Given the description of an element on the screen output the (x, y) to click on. 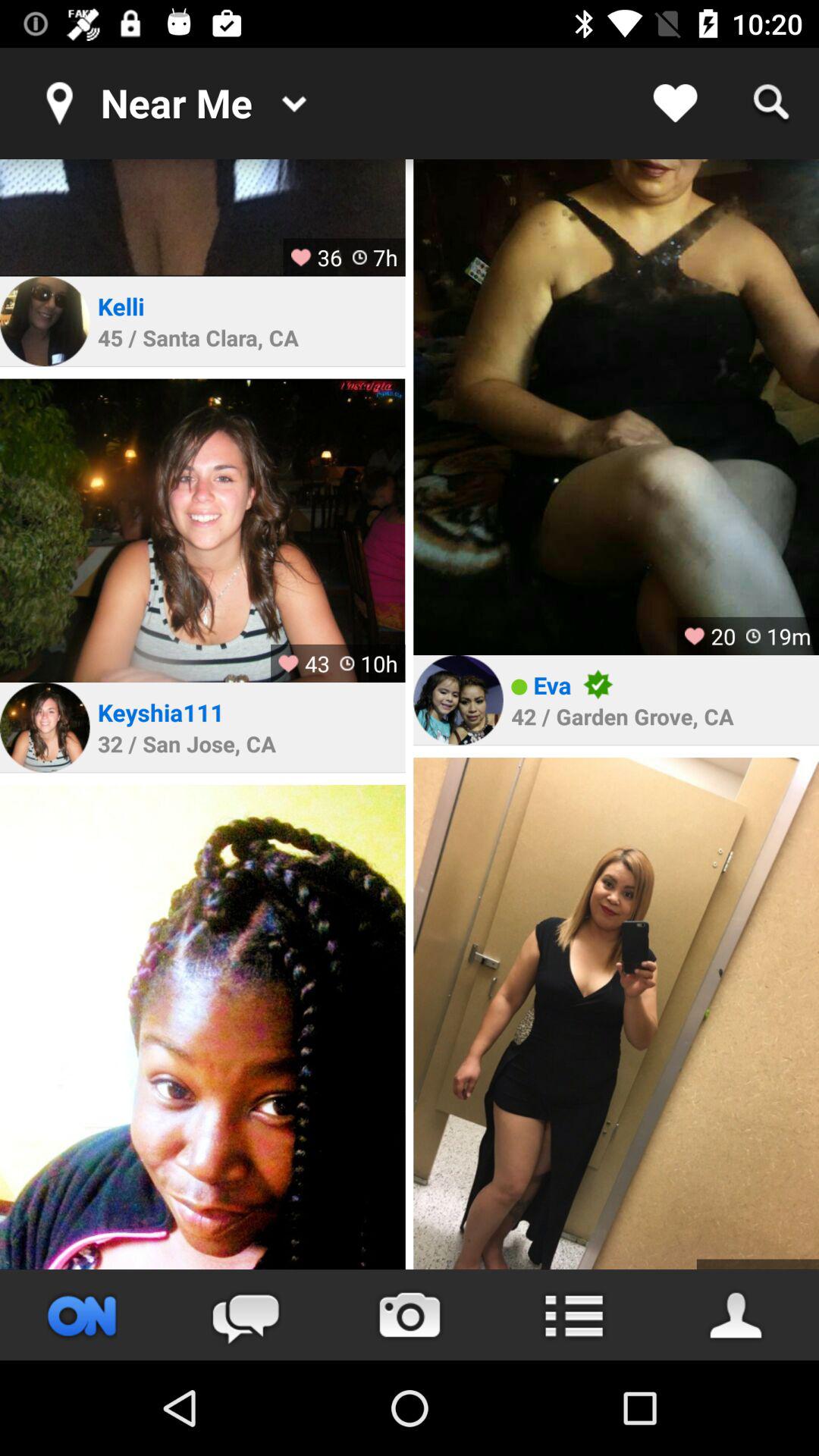
visit your profile (737, 1315)
